Given the description of an element on the screen output the (x, y) to click on. 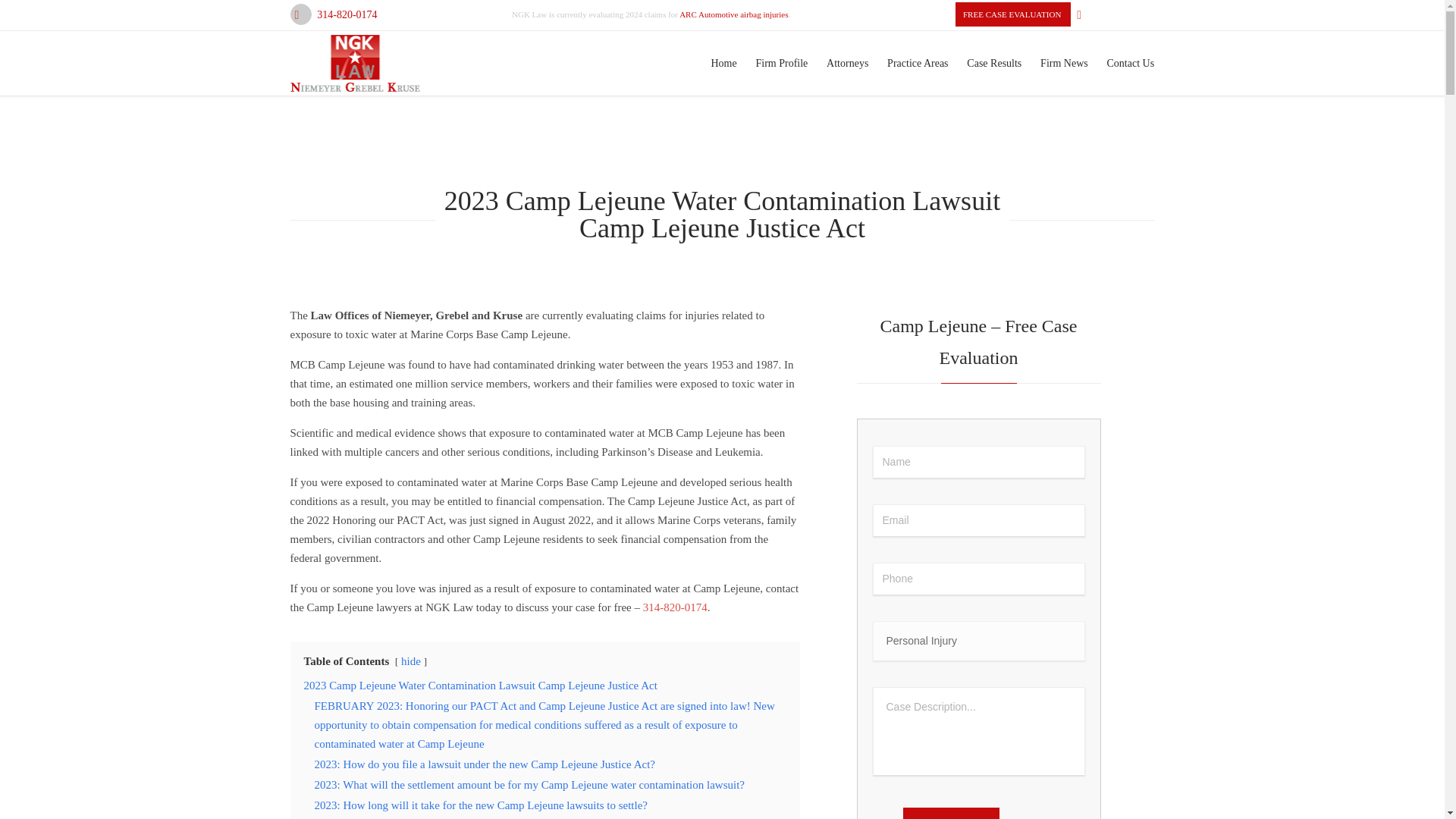
hide (410, 661)
Contact Us (1130, 63)
Firm Profile (781, 63)
Attorneys (848, 63)
314-820-0174 (347, 14)
NGK Law Firm (354, 63)
Practice Areas (917, 63)
Firm News (1063, 63)
314-820-0174 (675, 607)
Home (723, 63)
